Given the description of an element on the screen output the (x, y) to click on. 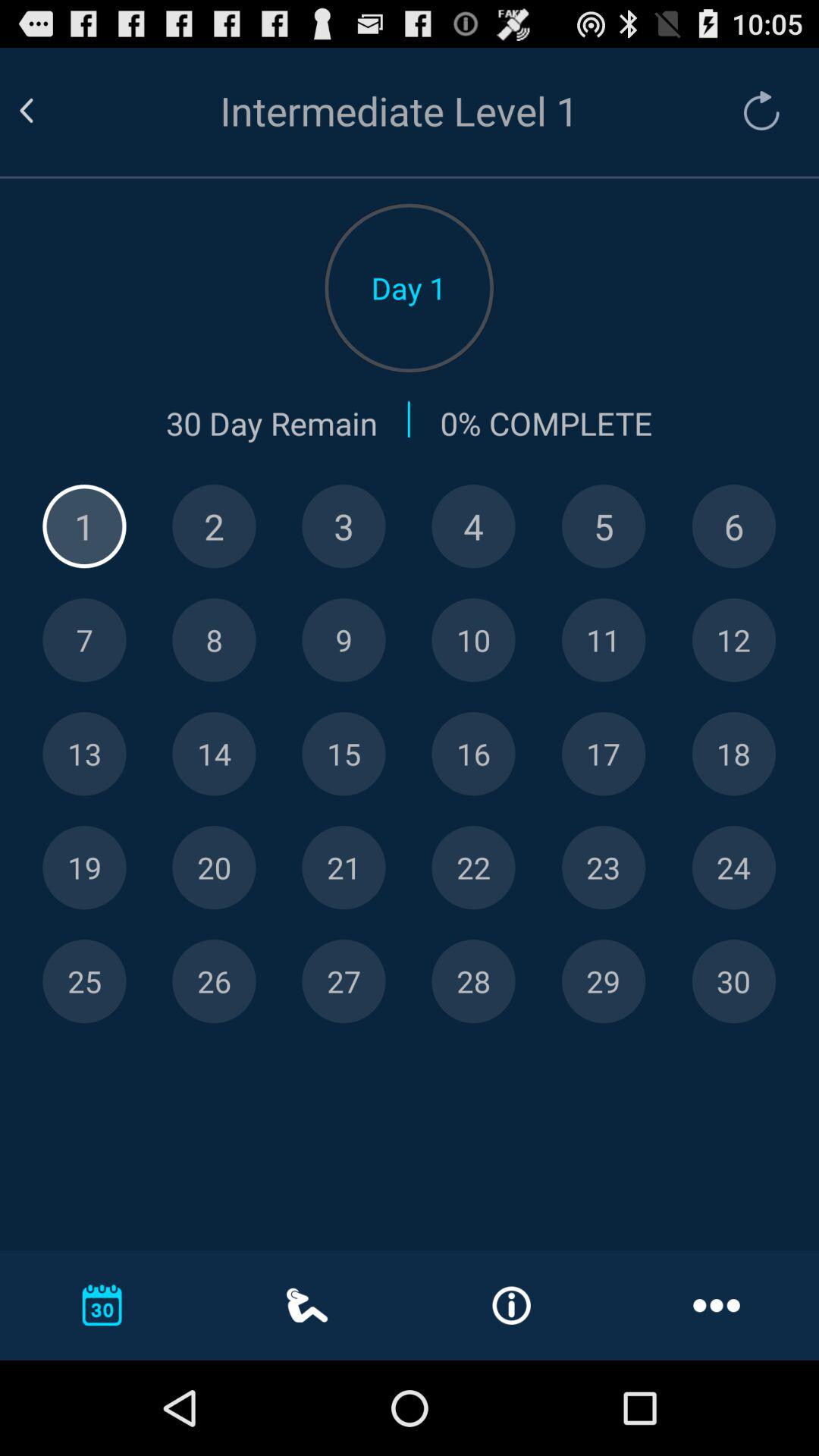
date selection (343, 526)
